Given the description of an element on the screen output the (x, y) to click on. 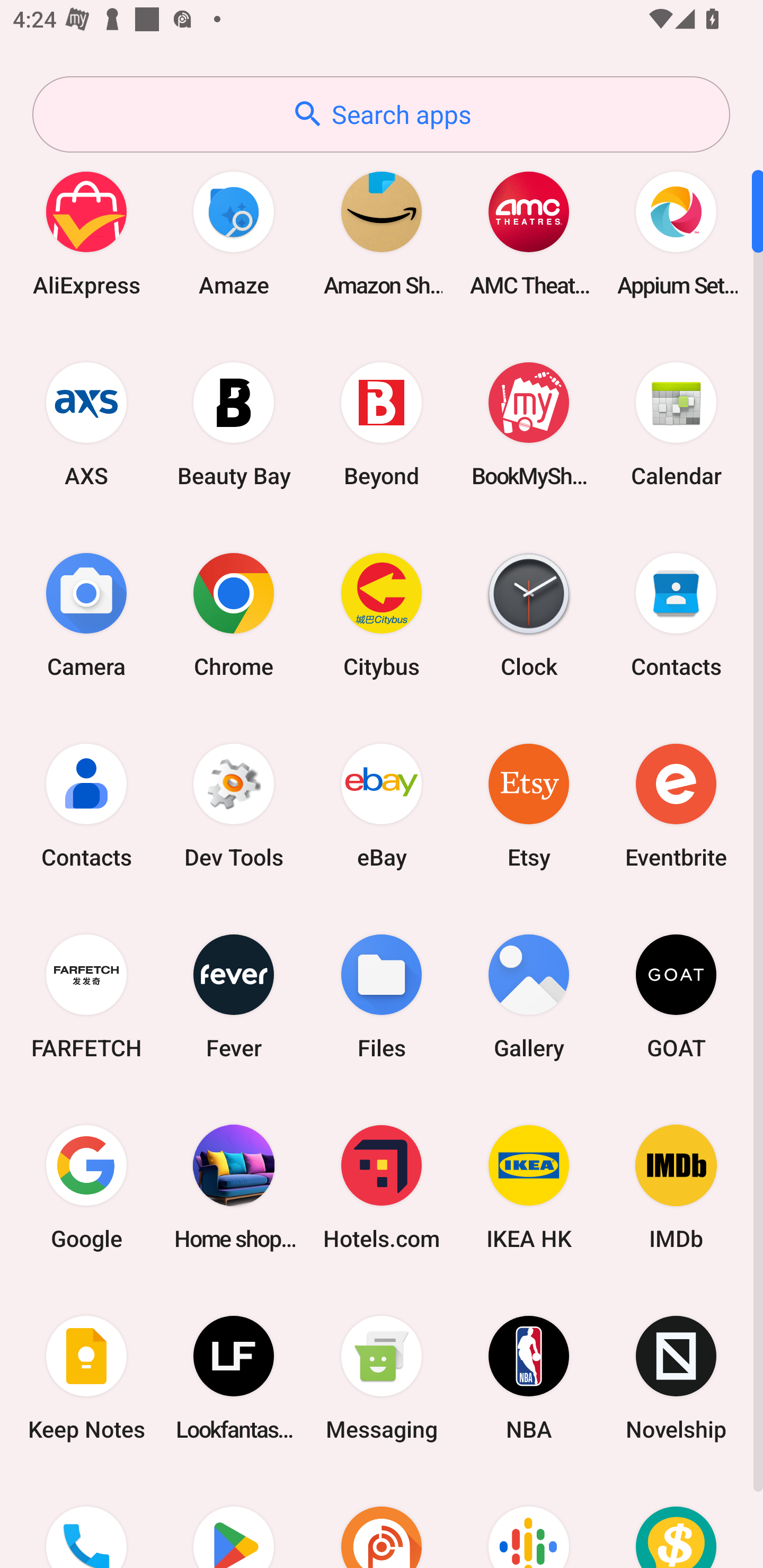
  Search apps (381, 114)
AliExpress (86, 233)
Amaze (233, 233)
Amazon Shopping (381, 233)
AMC Theatres (528, 233)
Appium Settings (676, 233)
AXS (86, 424)
Beauty Bay (233, 424)
Beyond (381, 424)
BookMyShow (528, 424)
Calendar (676, 424)
Camera (86, 614)
Chrome (233, 614)
Citybus (381, 614)
Clock (528, 614)
Contacts (676, 614)
Contacts (86, 805)
Dev Tools (233, 805)
eBay (381, 805)
Etsy (528, 805)
Eventbrite (676, 805)
FARFETCH (86, 996)
Fever (233, 996)
Files (381, 996)
Gallery (528, 996)
GOAT (676, 996)
Google (86, 1186)
Home shopping (233, 1186)
Hotels.com (381, 1186)
IKEA HK (528, 1186)
IMDb (676, 1186)
Keep Notes (86, 1377)
Lookfantastic (233, 1377)
Messaging (381, 1377)
NBA (528, 1377)
Novelship (676, 1377)
Phone (86, 1520)
Play Store (233, 1520)
Podcast Addict (381, 1520)
Podcasts (528, 1520)
Price (676, 1520)
